Given the description of an element on the screen output the (x, y) to click on. 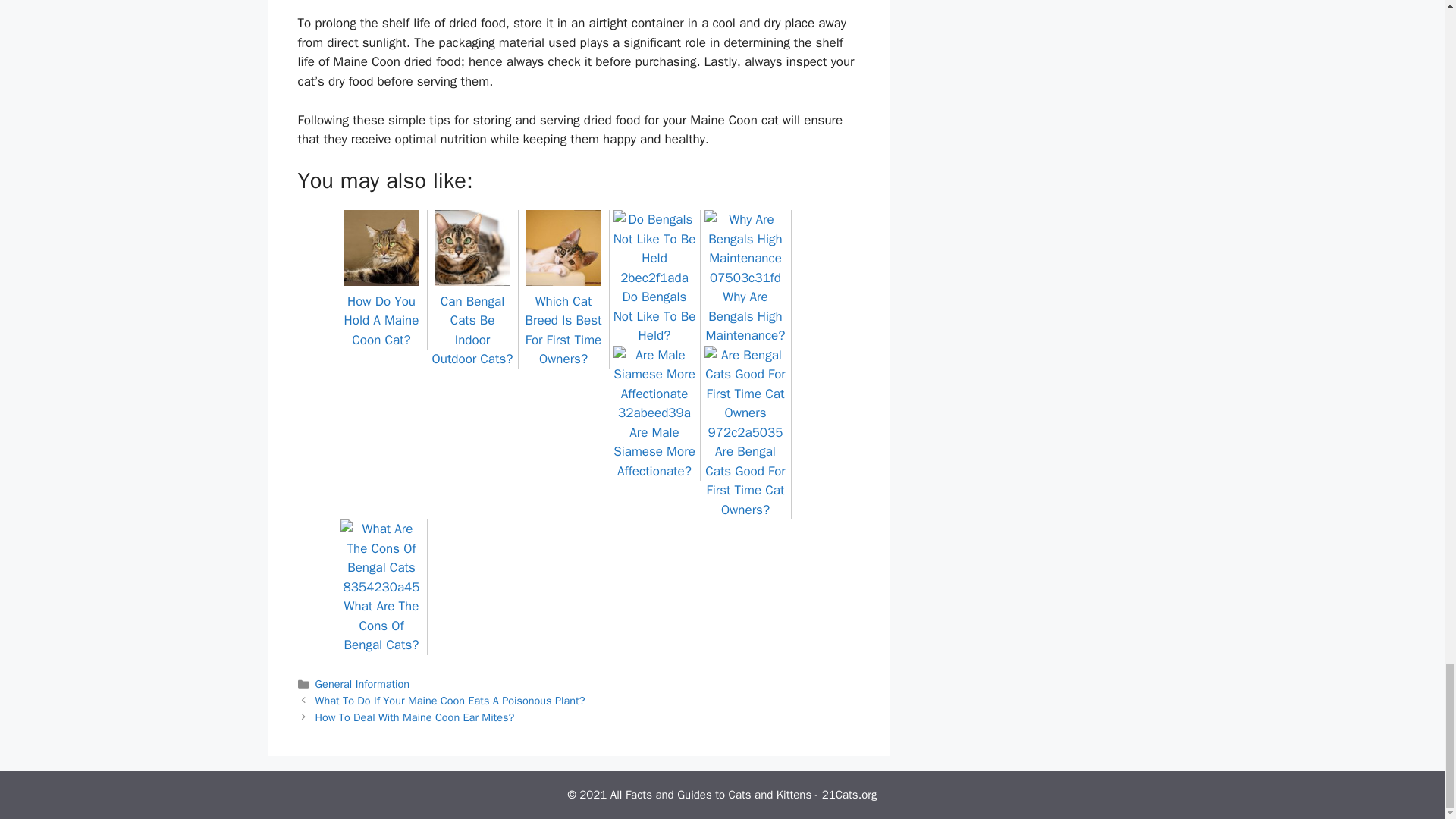
General Information (362, 684)
How Do You Hold A Maine Coon Cat? 1 (381, 247)
How Do You Hold A Maine Coon Cat? (381, 310)
Do Bengals Not Like To Be Held? (653, 306)
Why Are Bengals High Maintenance? 5 (744, 248)
Do Bengals Not Like To Be Held? 4 (653, 248)
Are Male Siamese More Affectionate? 6 (653, 384)
Which Cat Breed Is Best For First Time Owners? 3 (563, 247)
Are Male Siamese More Affectionate? (653, 441)
Why Are Bengals High Maintenance? (744, 306)
